Given the description of an element on the screen output the (x, y) to click on. 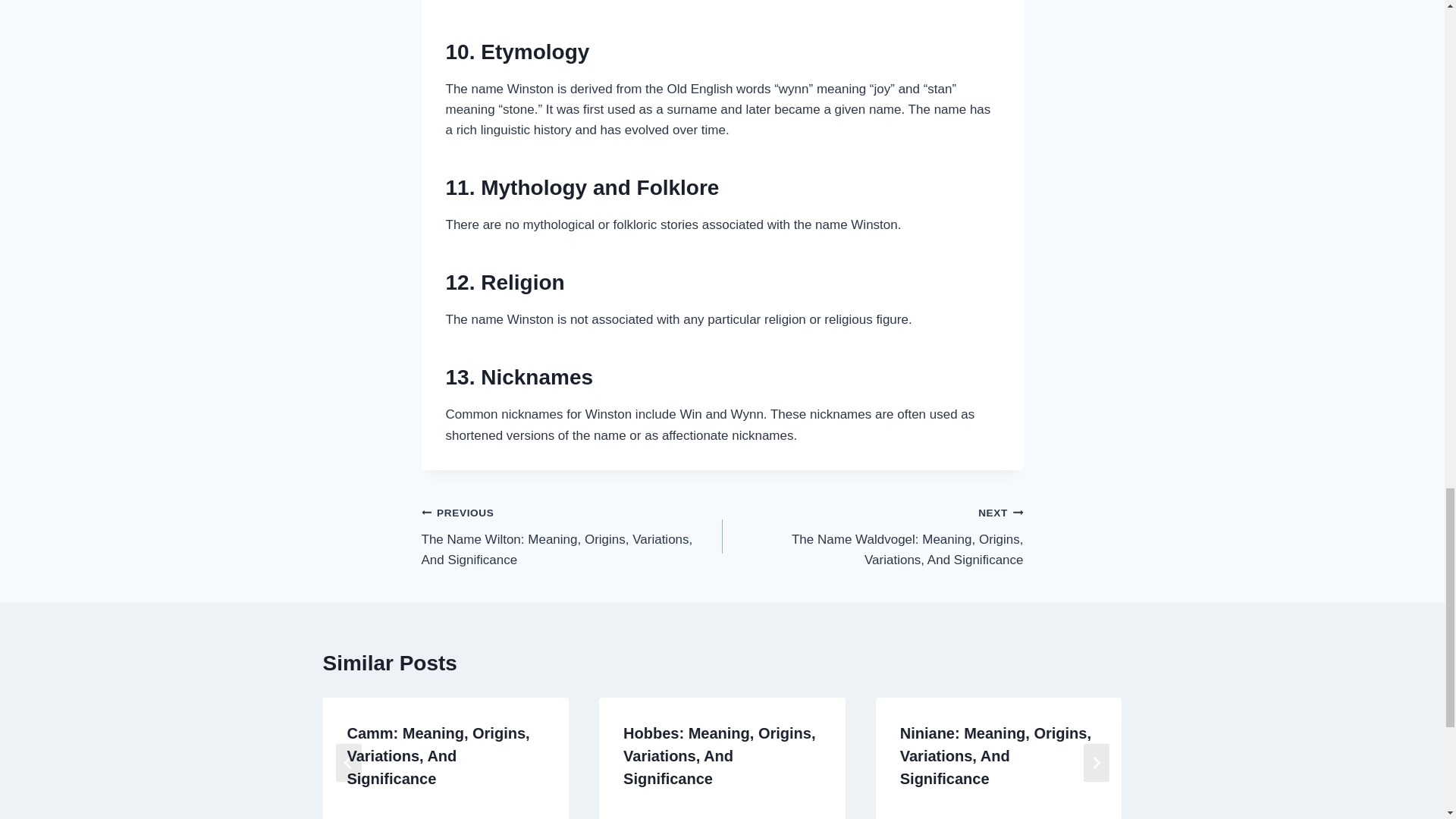
Camm: Meaning, Origins, Variations, And Significance (437, 755)
Hobbes: Meaning, Origins, Variations, And Significance (719, 755)
Niniane: Meaning, Origins, Variations, And Significance (994, 755)
